Given the description of an element on the screen output the (x, y) to click on. 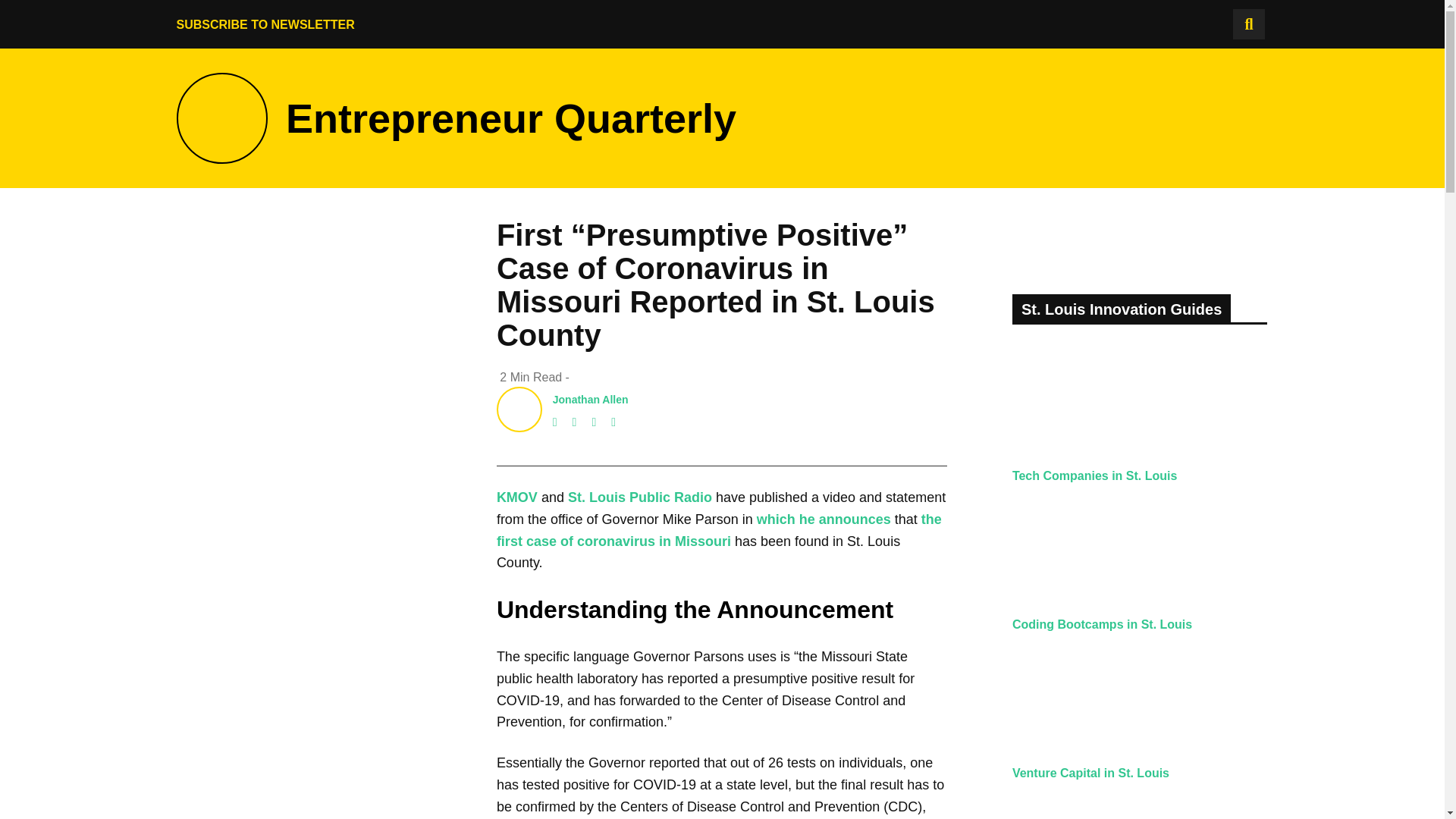
Coding Bootcamps in St. Louis (1101, 624)
KMOV (516, 497)
Venture Capital in St. Louis (1090, 772)
the first case of coronavirus in Missouri (719, 529)
Jonathan Allen (590, 399)
Tech Companies in St. Louis (1094, 475)
St. Louis Public Radio (639, 497)
which he announces (824, 519)
SUBSCRIBE TO NEWSLETTER (264, 23)
